Given the description of an element on the screen output the (x, y) to click on. 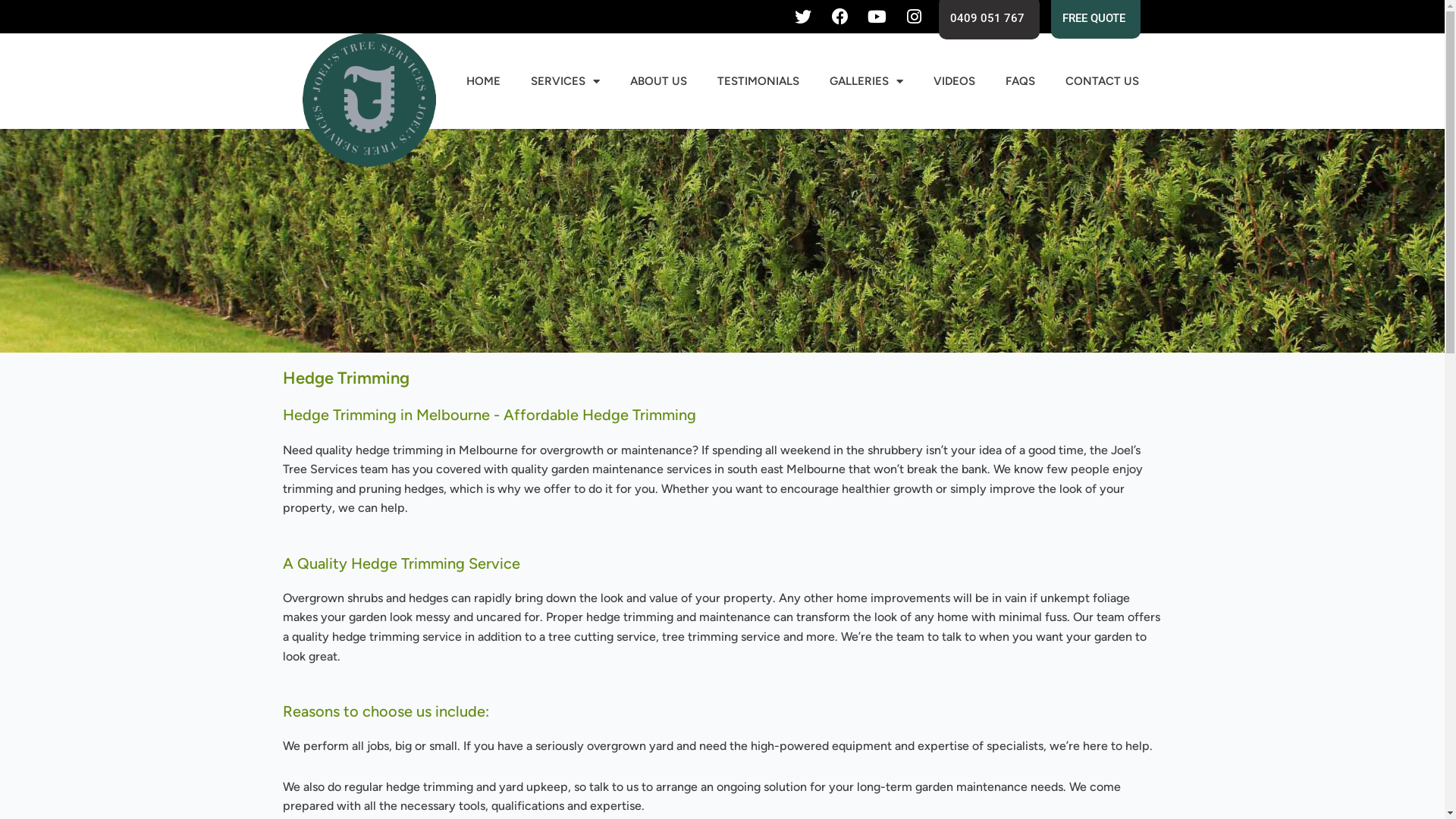
VIDEOS Element type: text (954, 80)
ABOUT US Element type: text (658, 80)
FAQS Element type: text (1020, 80)
CONTACT US Element type: text (1102, 80)
SERVICES Element type: text (565, 80)
GALLERIES Element type: text (866, 80)
HOME Element type: text (483, 80)
TESTIMONIALS Element type: text (758, 80)
